Given the description of an element on the screen output the (x, y) to click on. 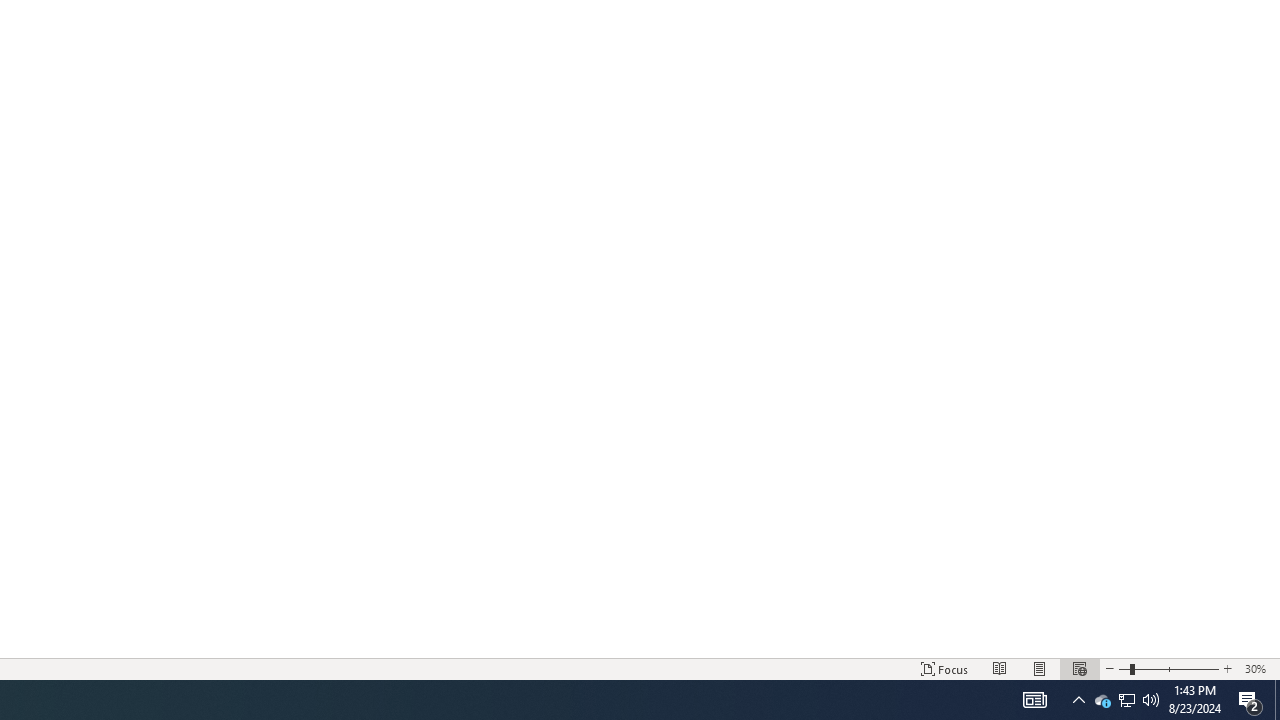
Zoom 30% (1258, 668)
